Given the description of an element on the screen output the (x, y) to click on. 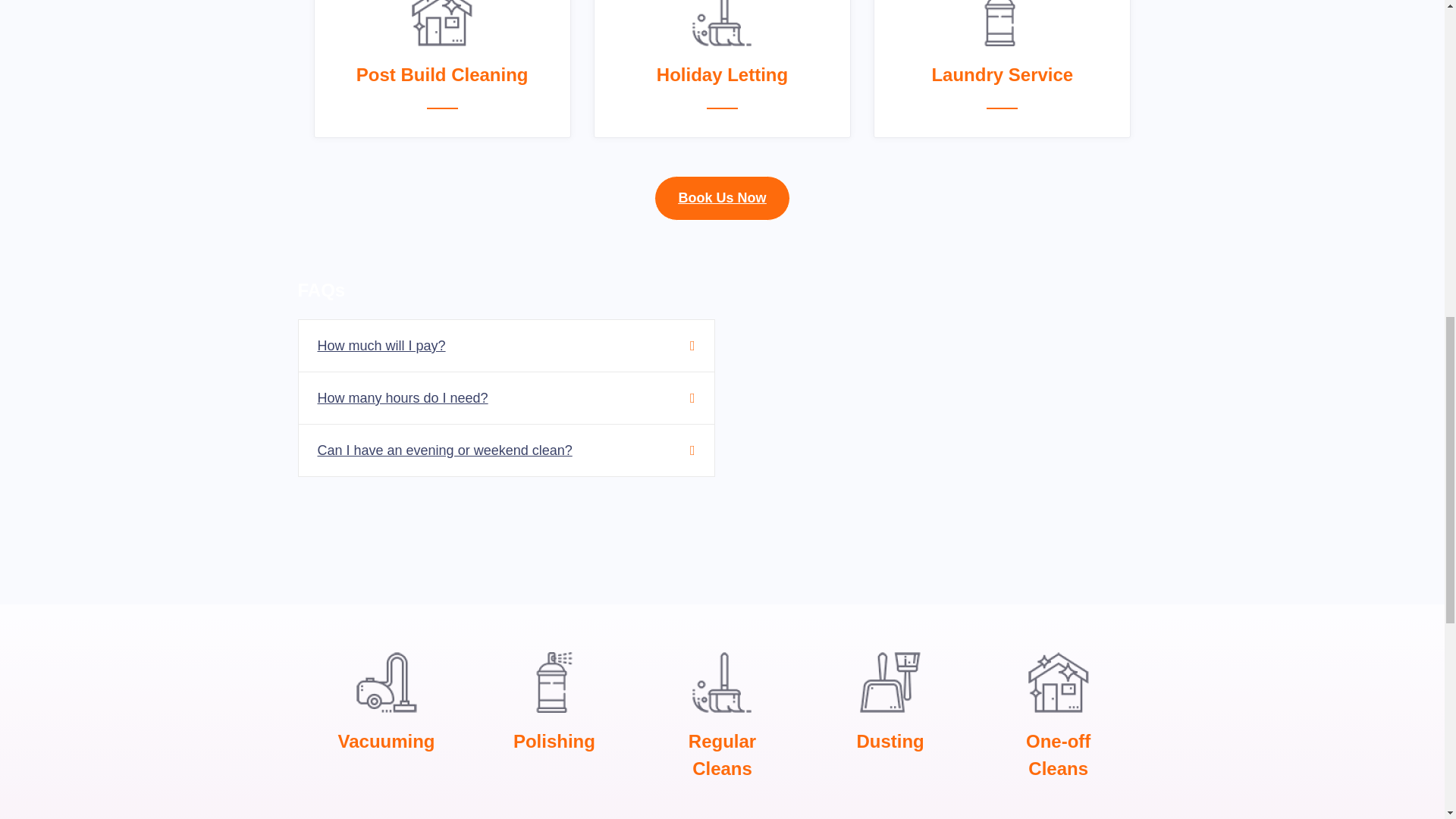
brush-icon (721, 22)
house-icon (1058, 681)
spray-icon (1002, 22)
brush-icon (721, 681)
How many hours do I need? (402, 397)
dustpan-icon (890, 681)
Book Us Now (721, 198)
Can I have an evening or weekend clean? (444, 450)
house-icon (441, 22)
How much will I pay? (381, 345)
